Given the description of an element on the screen output the (x, y) to click on. 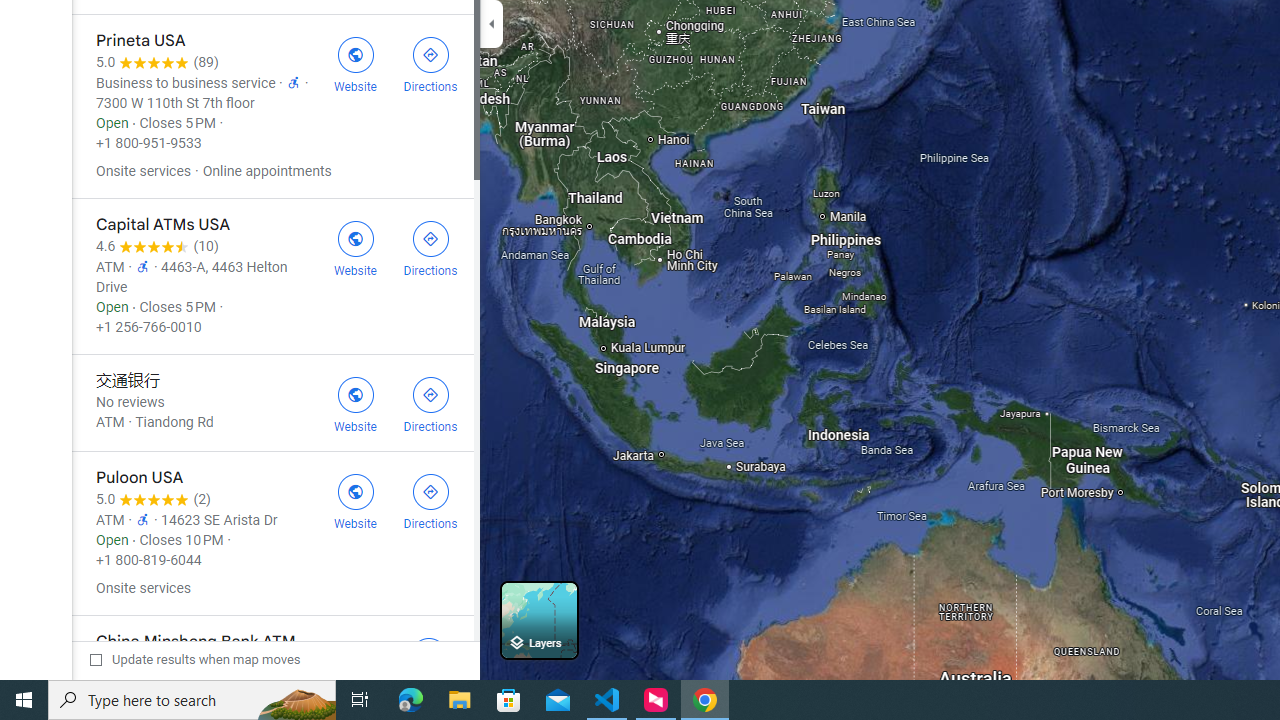
Get directions to Prineta USA (430, 62)
Capital ATMs USA (272, 276)
5.0 stars 89 Reviews (157, 62)
5.0 stars 2 Reviews (153, 499)
China Minsheng Bank ATM (272, 664)
